Given the description of an element on the screen output the (x, y) to click on. 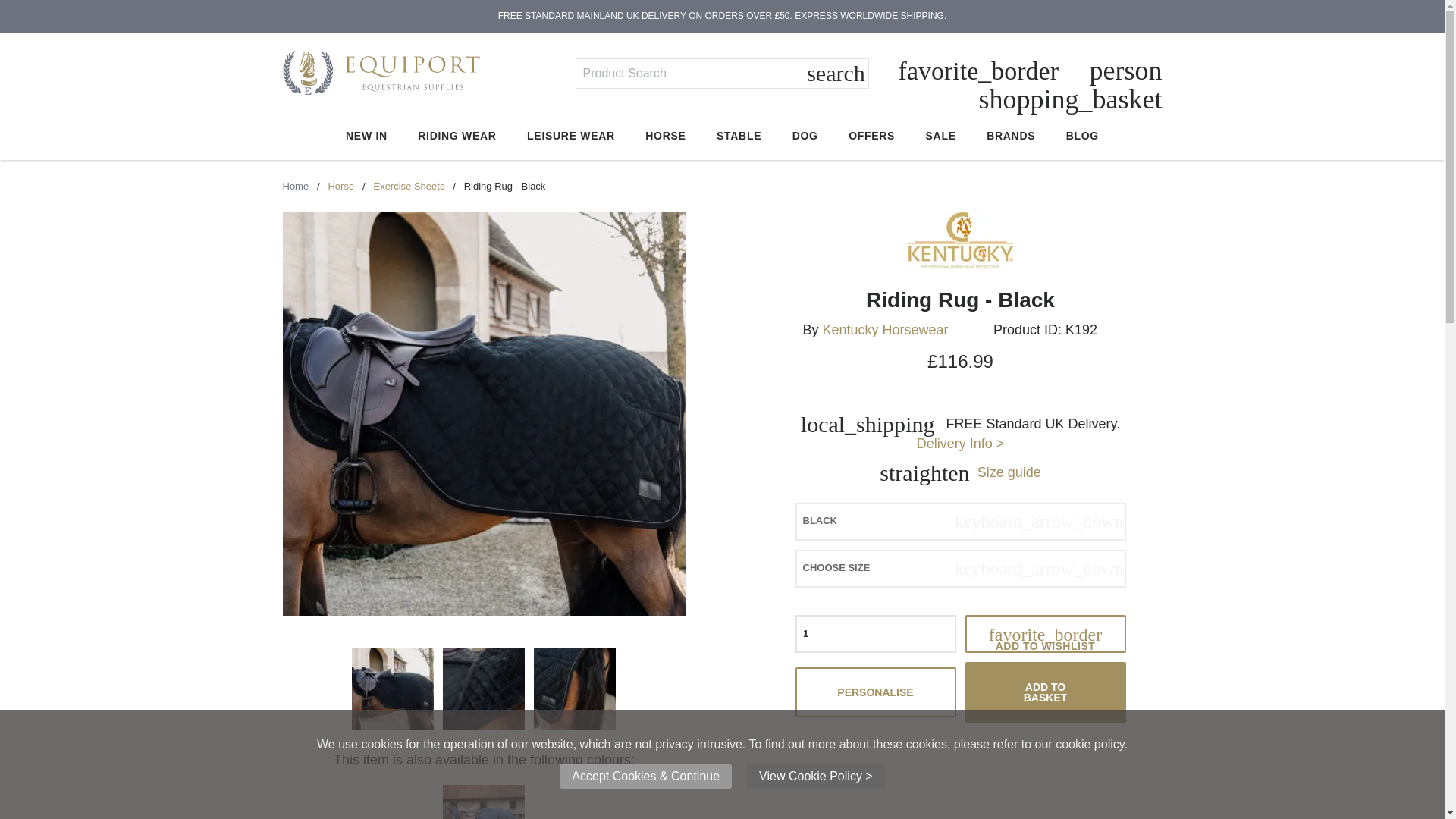
Products (408, 185)
Delivery Information (960, 443)
RIDING WEAR (456, 136)
person (1125, 70)
Brands (1011, 136)
1 (874, 633)
LEISURE WEAR (570, 136)
Kentucky Horsewear (884, 329)
Size Guide (1008, 472)
NEW IN (366, 136)
New In (366, 136)
Horse (340, 185)
Navy (483, 801)
Add to my Wishlist (1044, 633)
search (835, 74)
